Given the description of an element on the screen output the (x, y) to click on. 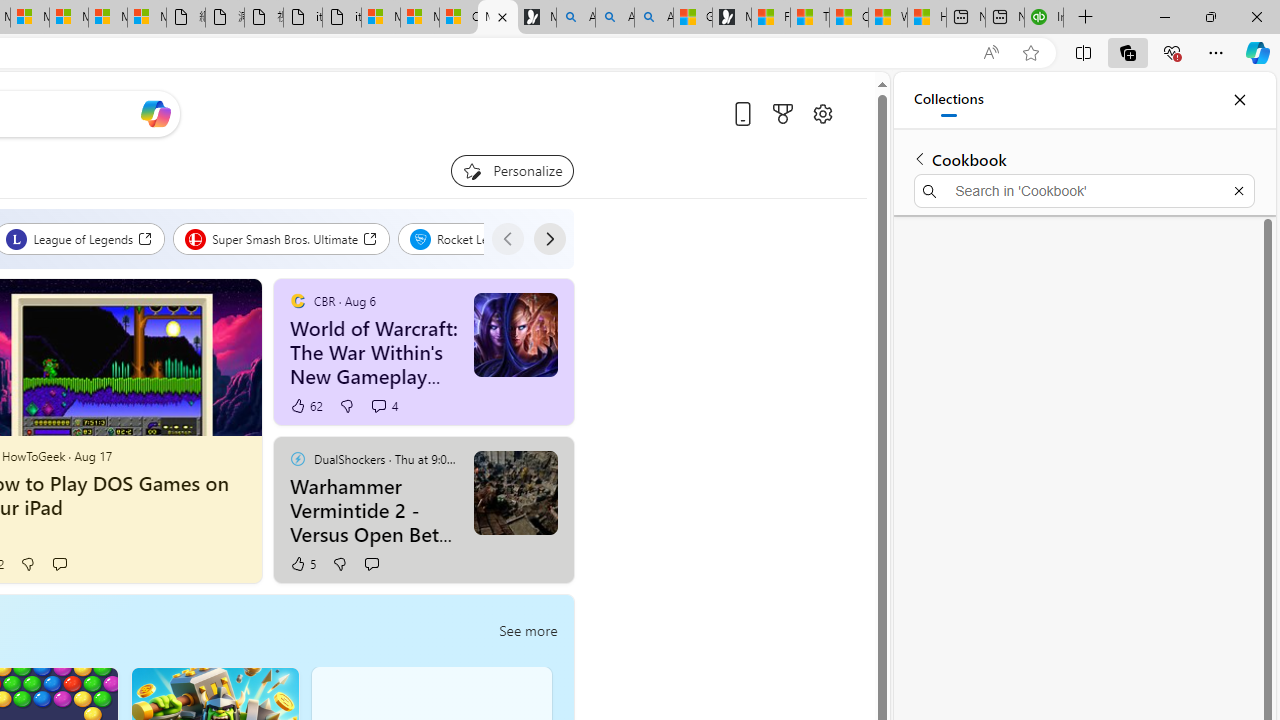
DualShockers (297, 458)
Food and Drink - MSN (770, 17)
View comments 4 Comment (377, 405)
Alabama high school quarterback dies - Search (575, 17)
